Given the description of an element on the screen output the (x, y) to click on. 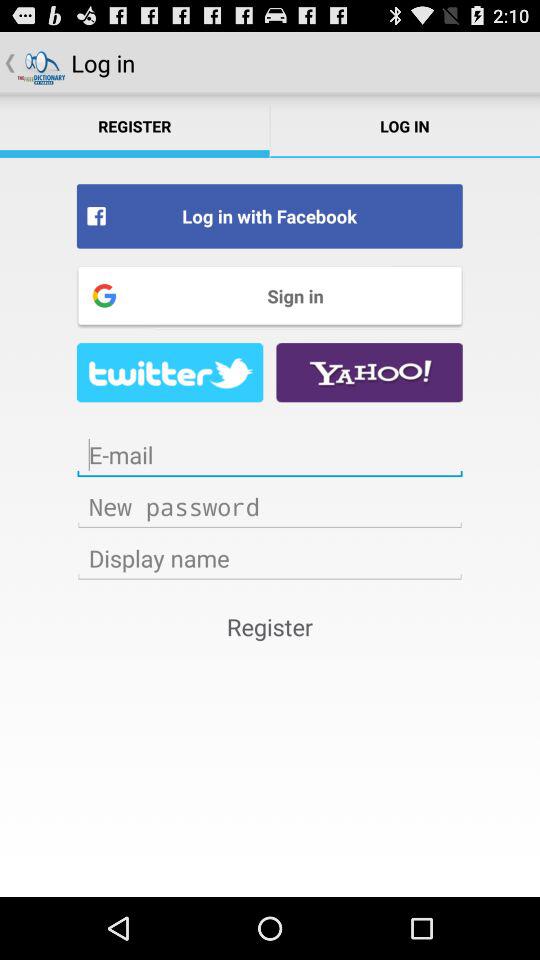
twitter page (169, 372)
